Given the description of an element on the screen output the (x, y) to click on. 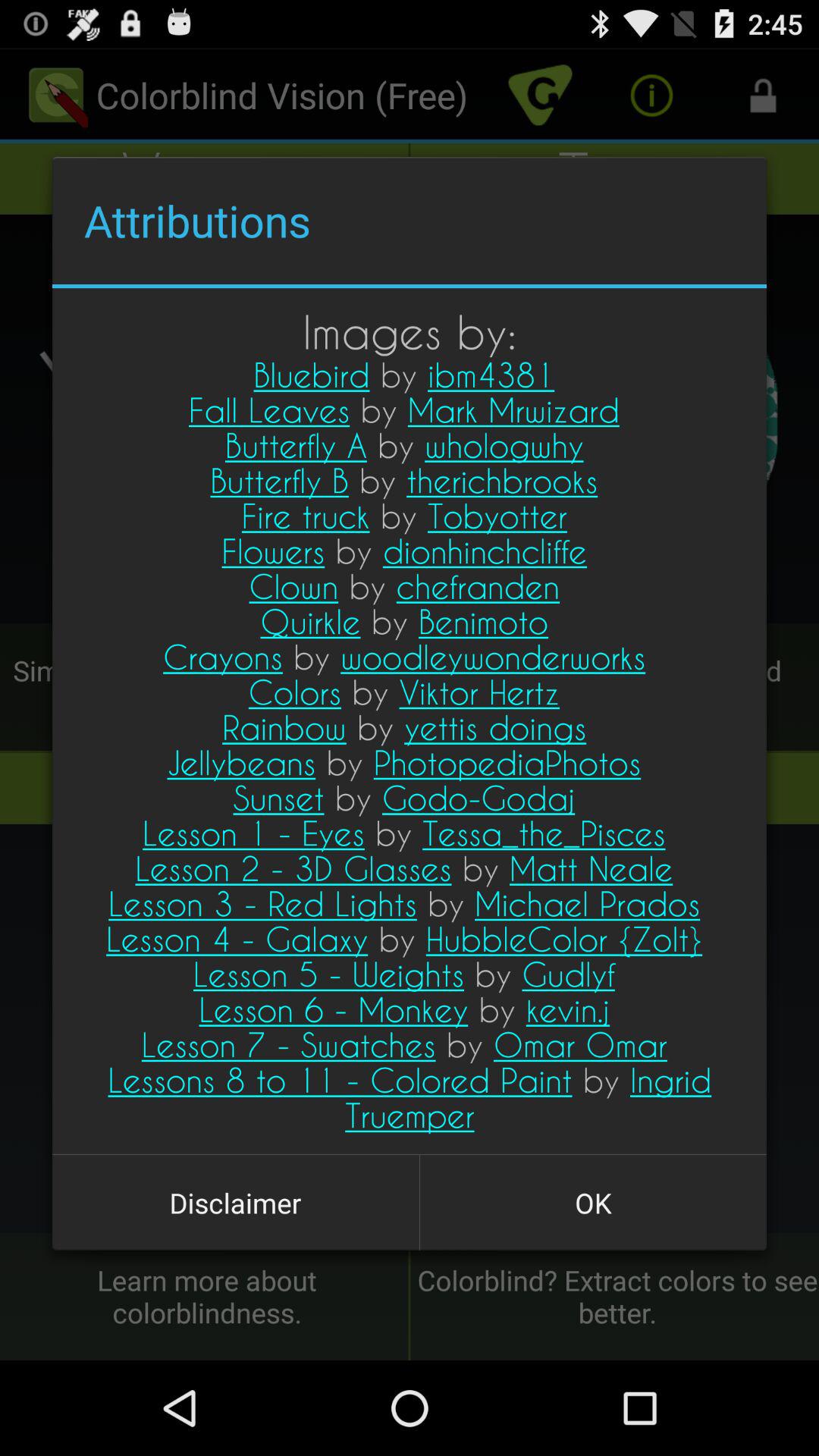
turn off item at the bottom right corner (593, 1202)
